Given the description of an element on the screen output the (x, y) to click on. 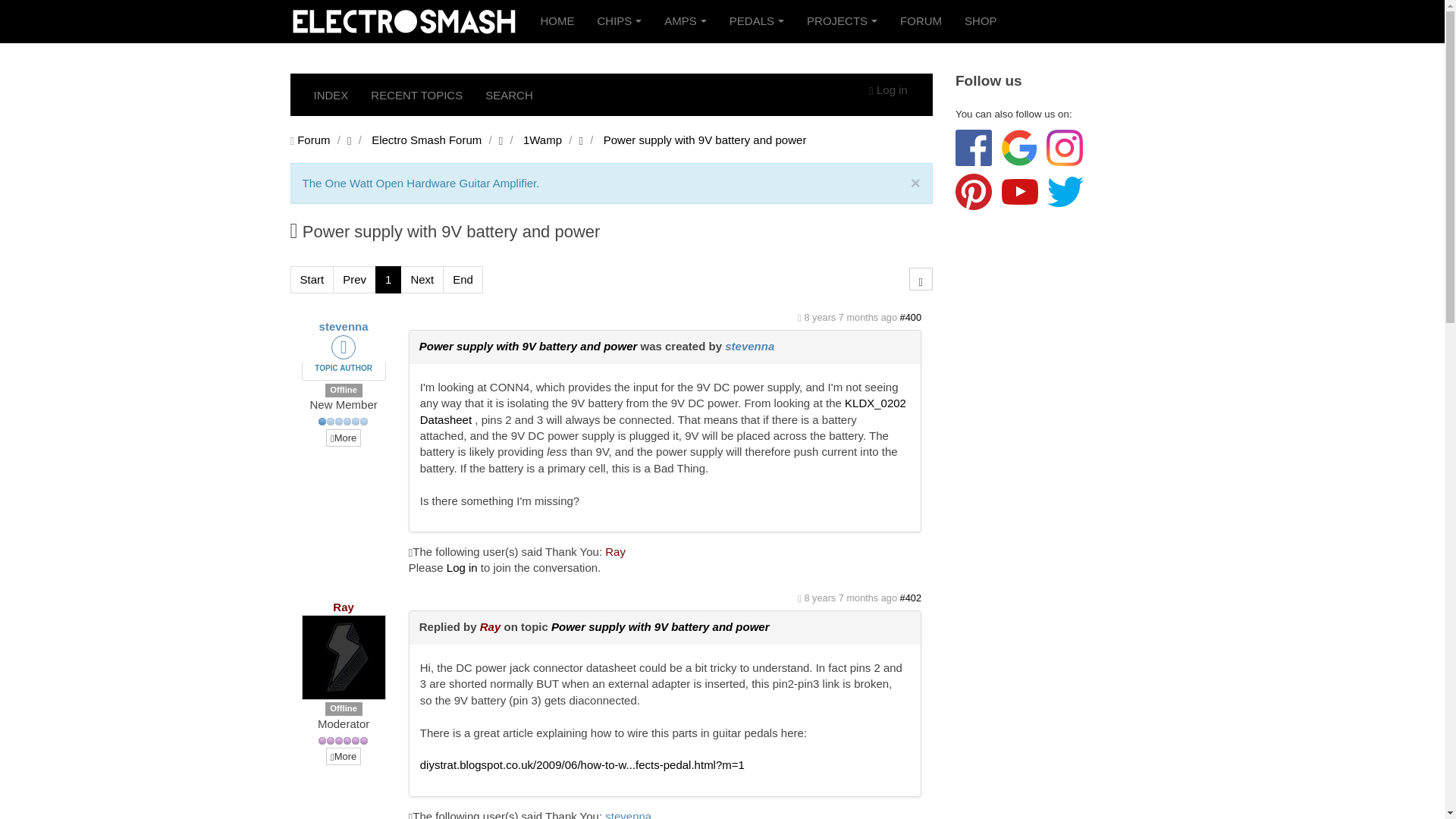
12 Dec 2015 11:04 (849, 597)
11 Dec 2015 05:28 (849, 317)
ElectroSmash (402, 21)
